Given the description of an element on the screen output the (x, y) to click on. 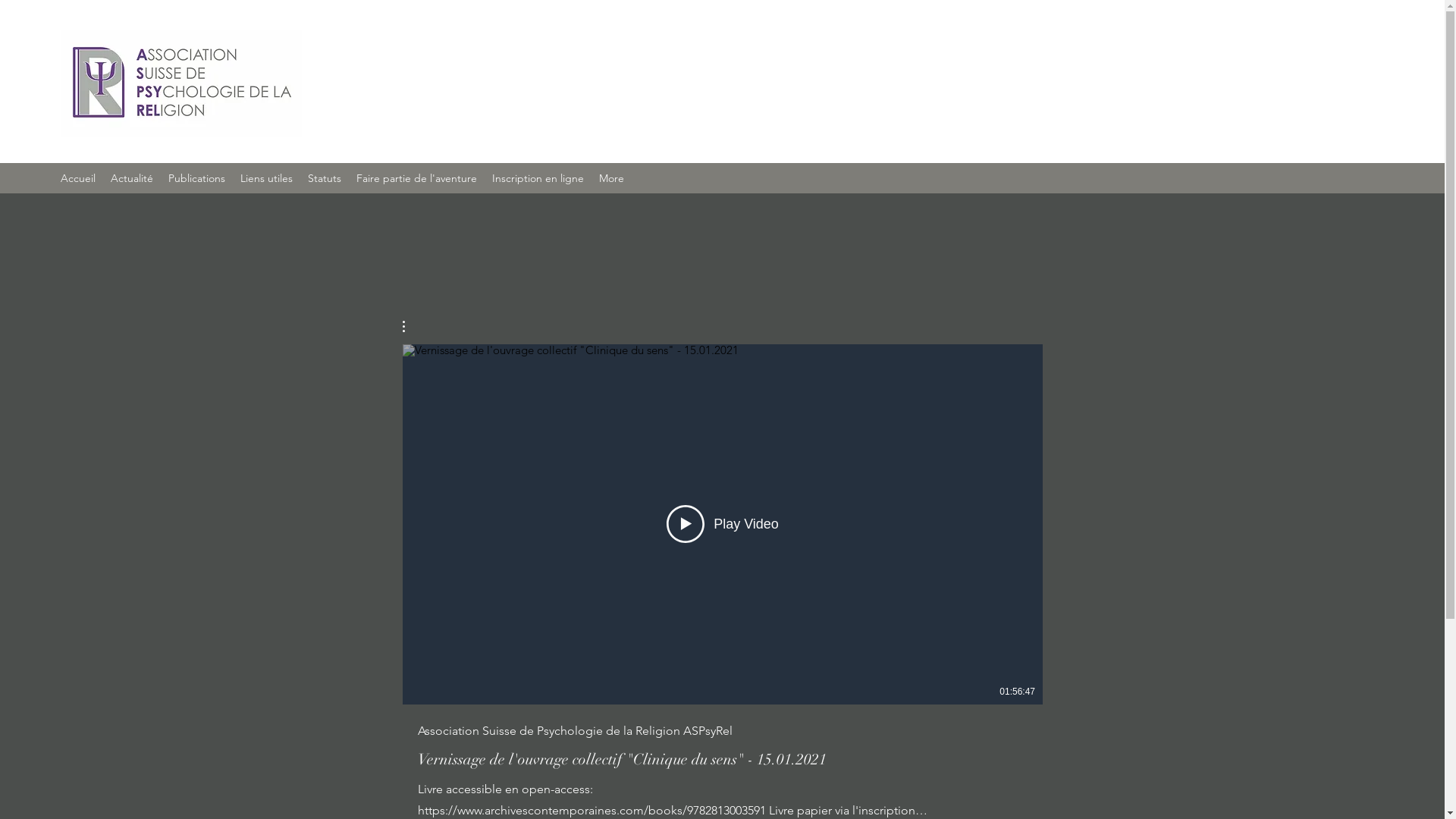
Faire partie de l'aventure Element type: text (416, 177)
Publications Element type: text (196, 177)
Play Video Element type: text (722, 523)
Statuts Element type: text (324, 177)
Accueil Element type: text (78, 177)
Liens utiles Element type: text (266, 177)
Inscription en ligne Element type: text (537, 177)
